Given the description of an element on the screen output the (x, y) to click on. 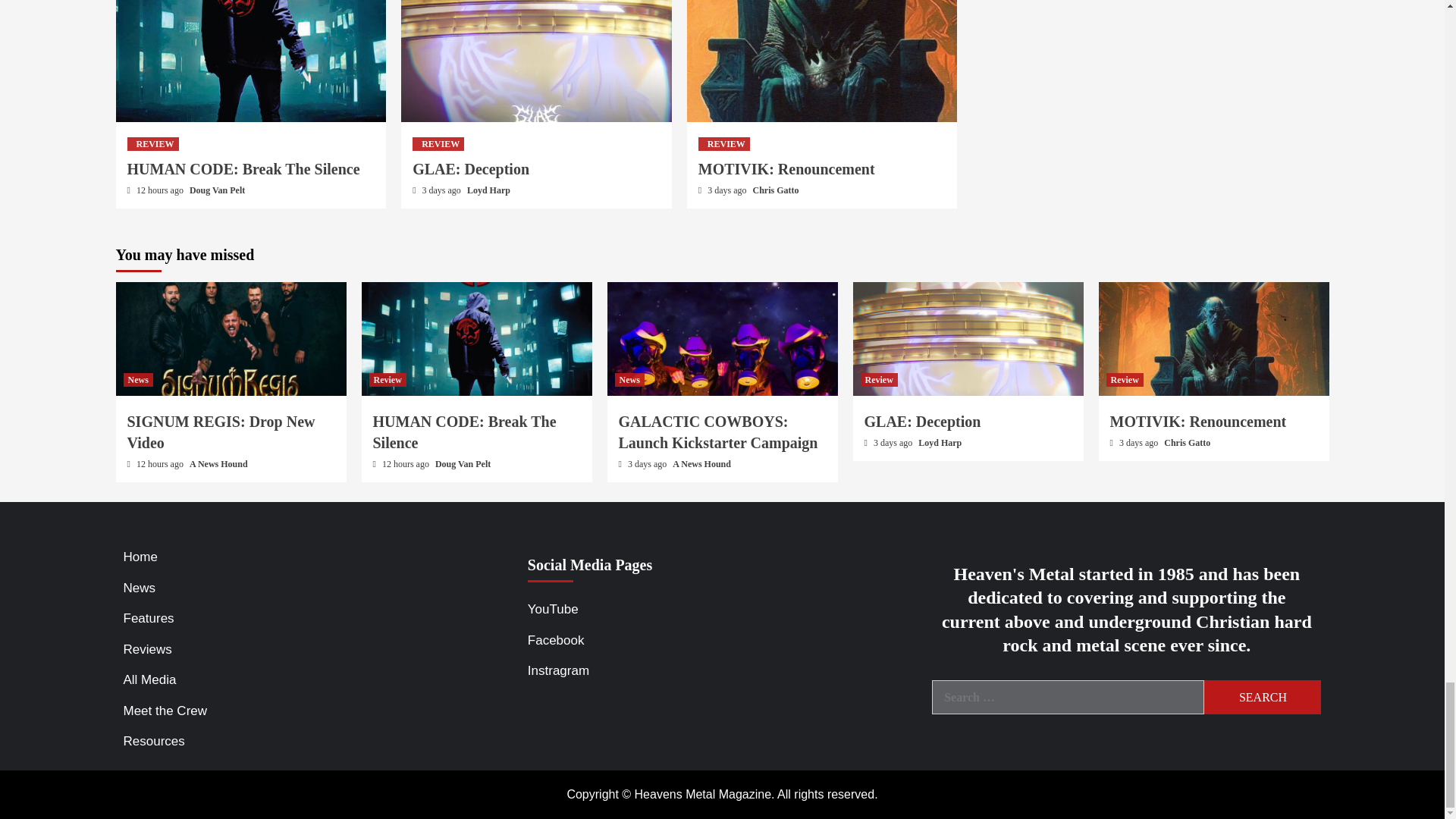
REVIEW (153, 143)
REVIEW (438, 143)
REVIEW (723, 143)
HUMAN CODE: Break The Silence (243, 168)
Doug Van Pelt (216, 190)
Visit us on Facebook (722, 644)
Visit us on Instagram (722, 674)
Visit us on YouTube (722, 613)
Loyd Harp (489, 190)
Search (1262, 697)
GLAE: Deception (470, 168)
Search (1262, 697)
